Given the description of an element on the screen output the (x, y) to click on. 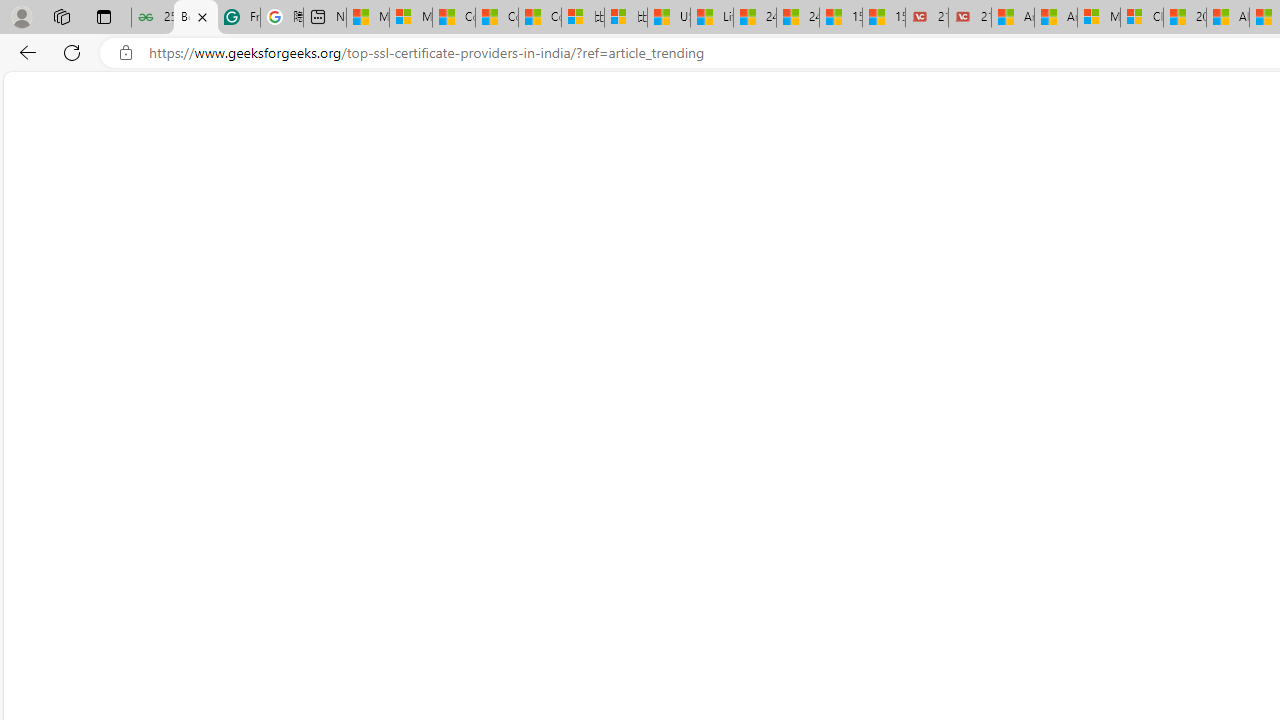
Tech News (759, 138)
ChatGPT News (925, 138)
USA TODAY - MSN (668, 17)
ChatGPT Tutorial (1042, 138)
Cloud Computing Services | Microsoft Azure (1142, 17)
Best SSL Certificates Provider in India - GeeksforGeeks (196, 17)
Tech Tips (483, 142)
Trending (86, 138)
